Given the description of an element on the screen output the (x, y) to click on. 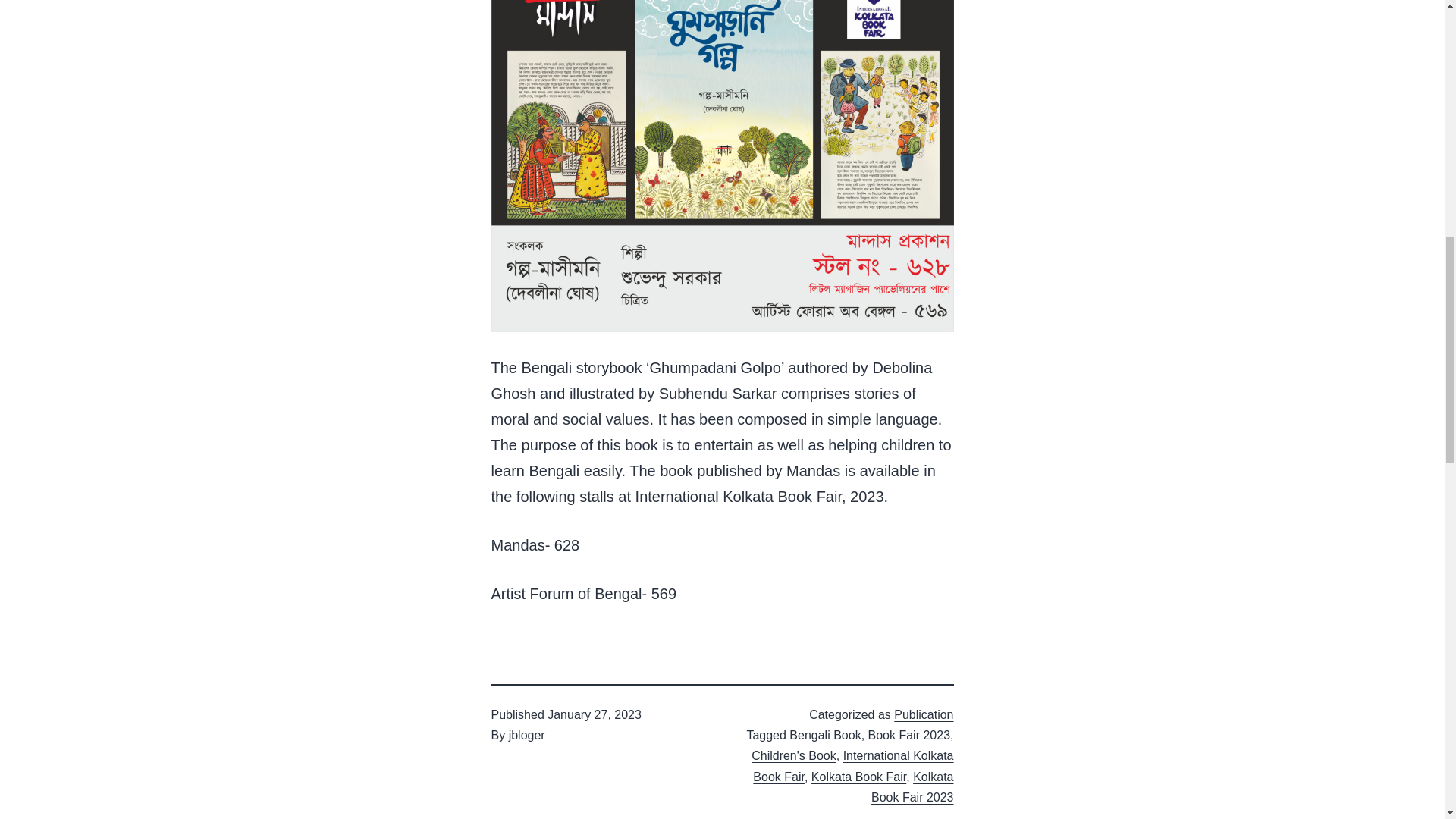
Kolkata Book Fair 2023 (911, 786)
Bengali Book (824, 735)
Children's Book (793, 755)
Kolkata Book Fair (857, 776)
jbloger (526, 735)
International Kolkata Book Fair (852, 765)
Book Fair 2023 (908, 735)
Publication (923, 714)
